Given the description of an element on the screen output the (x, y) to click on. 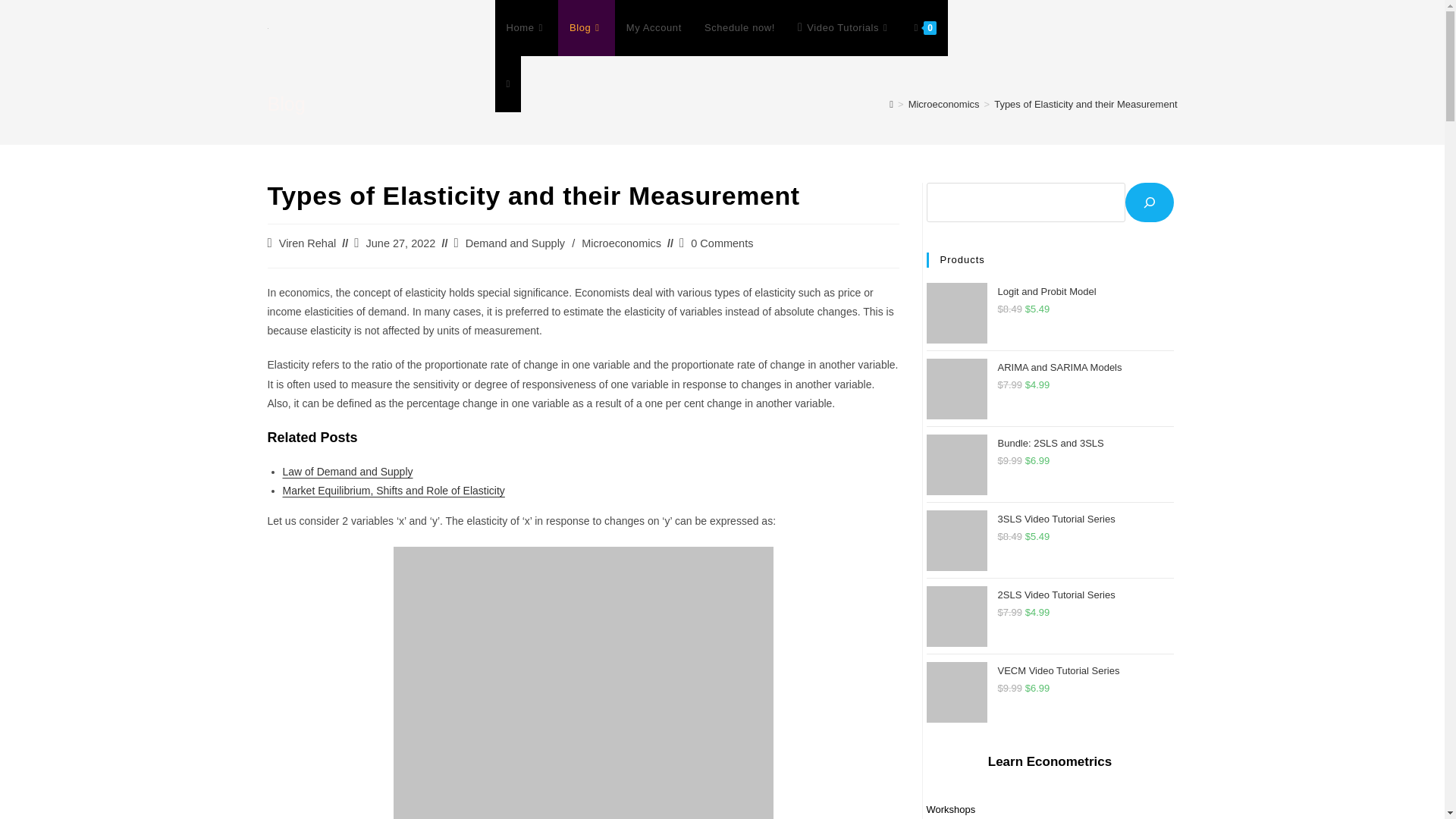
Market Equilibrium, Shifts and Role of Elasticity (392, 490)
Home (526, 28)
Law of Demand and Supply (347, 471)
Blog (585, 28)
Posts by Viren Rehal (307, 243)
